Given the description of an element on the screen output the (x, y) to click on. 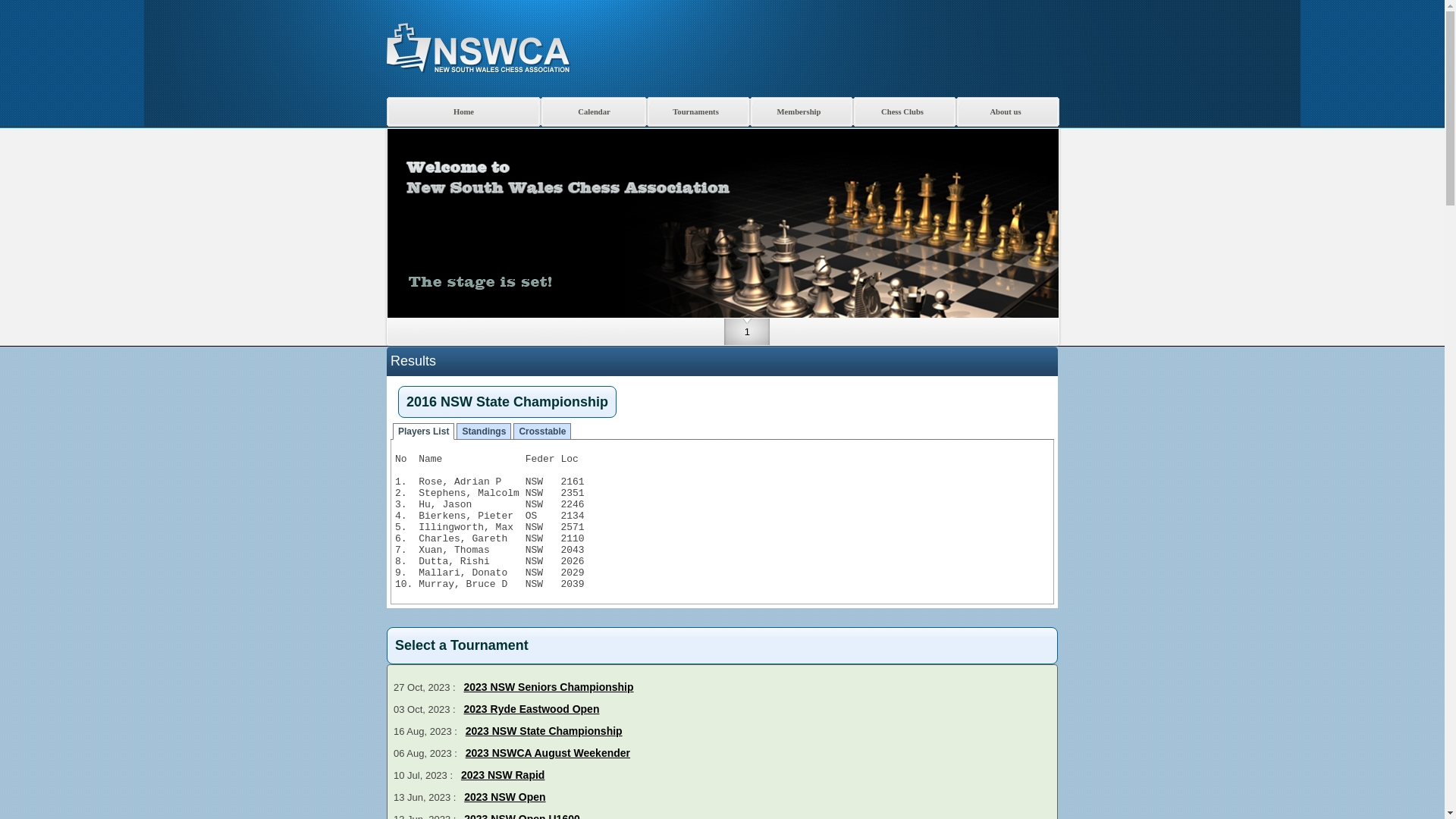
Calendar Element type: text (593, 111)
About us Element type: text (1007, 111)
Standings Element type: text (483, 431)
2023 NSWCA August Weekender Element type: text (547, 752)
Chess Clubs Element type: text (904, 111)
Crosstable Element type: text (542, 431)
2023 NSW State Championship Element type: text (543, 730)
Membership Element type: text (801, 111)
2023 NSW Seniors Championship Element type: text (548, 686)
2023 NSW Open Element type: text (504, 796)
Tournaments Element type: text (697, 111)
Players List Element type: text (423, 431)
Home Element type: text (463, 111)
2023 Ryde Eastwood Open Element type: text (531, 708)
1 Element type: text (746, 335)
2023 NSW Rapid Element type: text (502, 774)
